Given the description of an element on the screen output the (x, y) to click on. 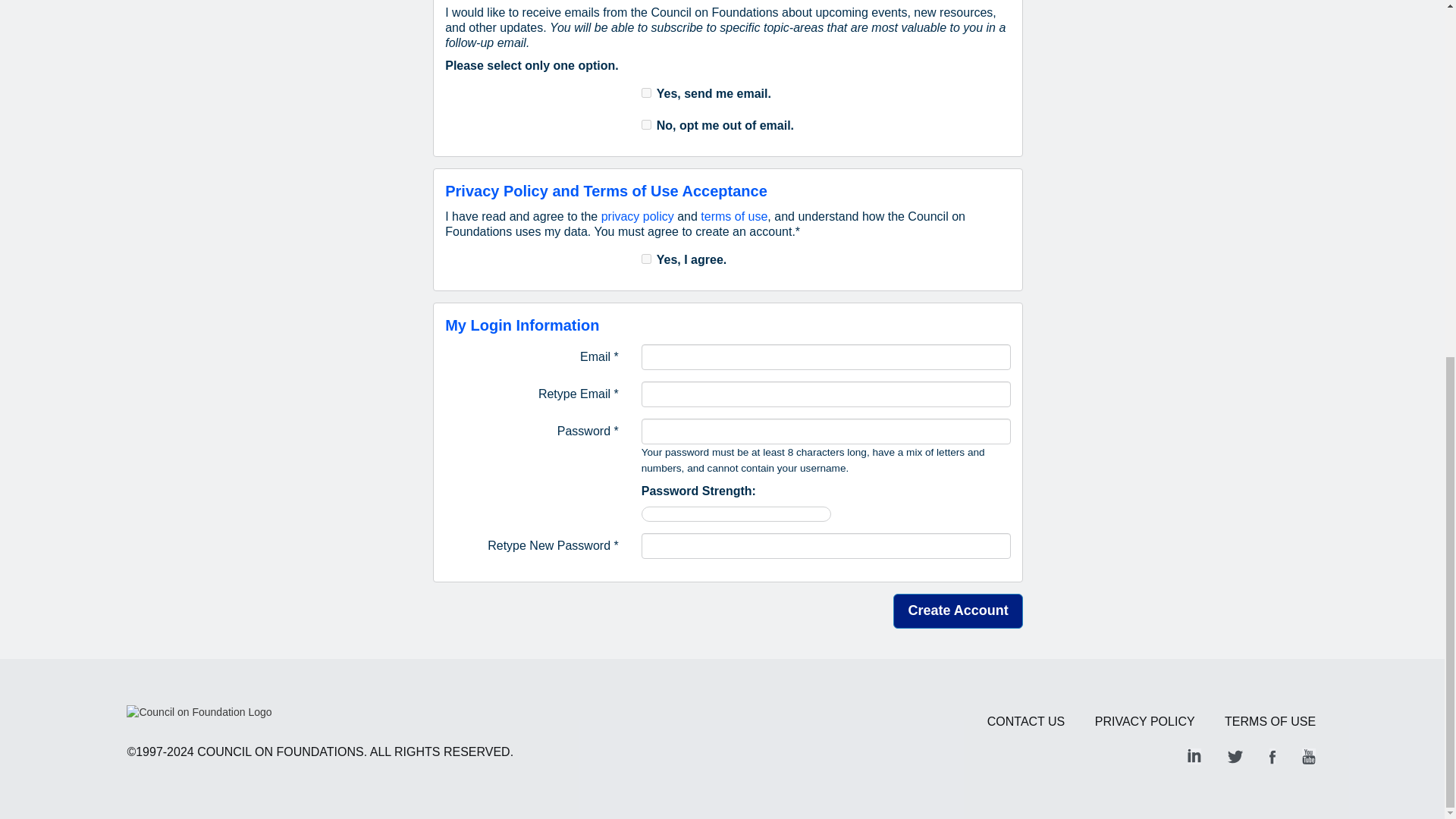
1 (646, 258)
TERMS OF USE (1270, 721)
terms of use (733, 215)
1 (646, 92)
Create Account (957, 610)
Create Account (957, 610)
1 (646, 124)
PRIVACY POLICY (1144, 721)
CONTACT US (1026, 721)
privacy policy (637, 215)
